Given the description of an element on the screen output the (x, y) to click on. 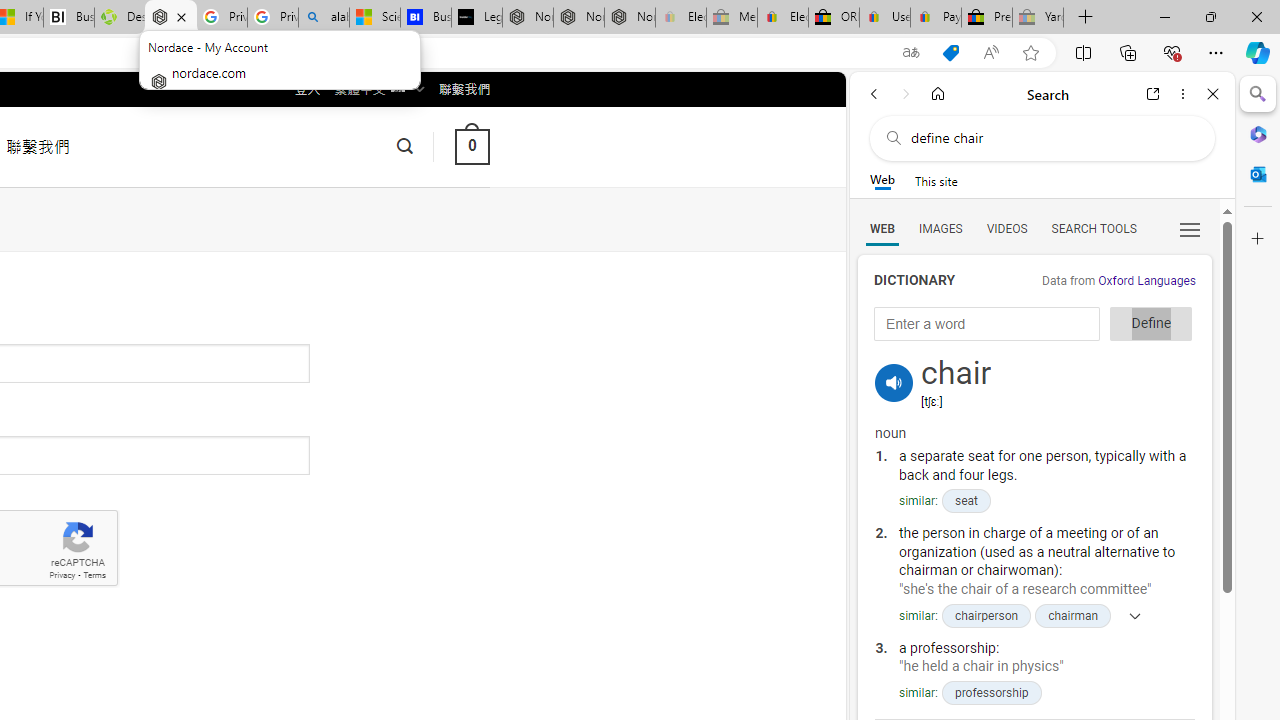
Nordace - My Account (170, 17)
Terms (94, 575)
